Given the description of an element on the screen output the (x, y) to click on. 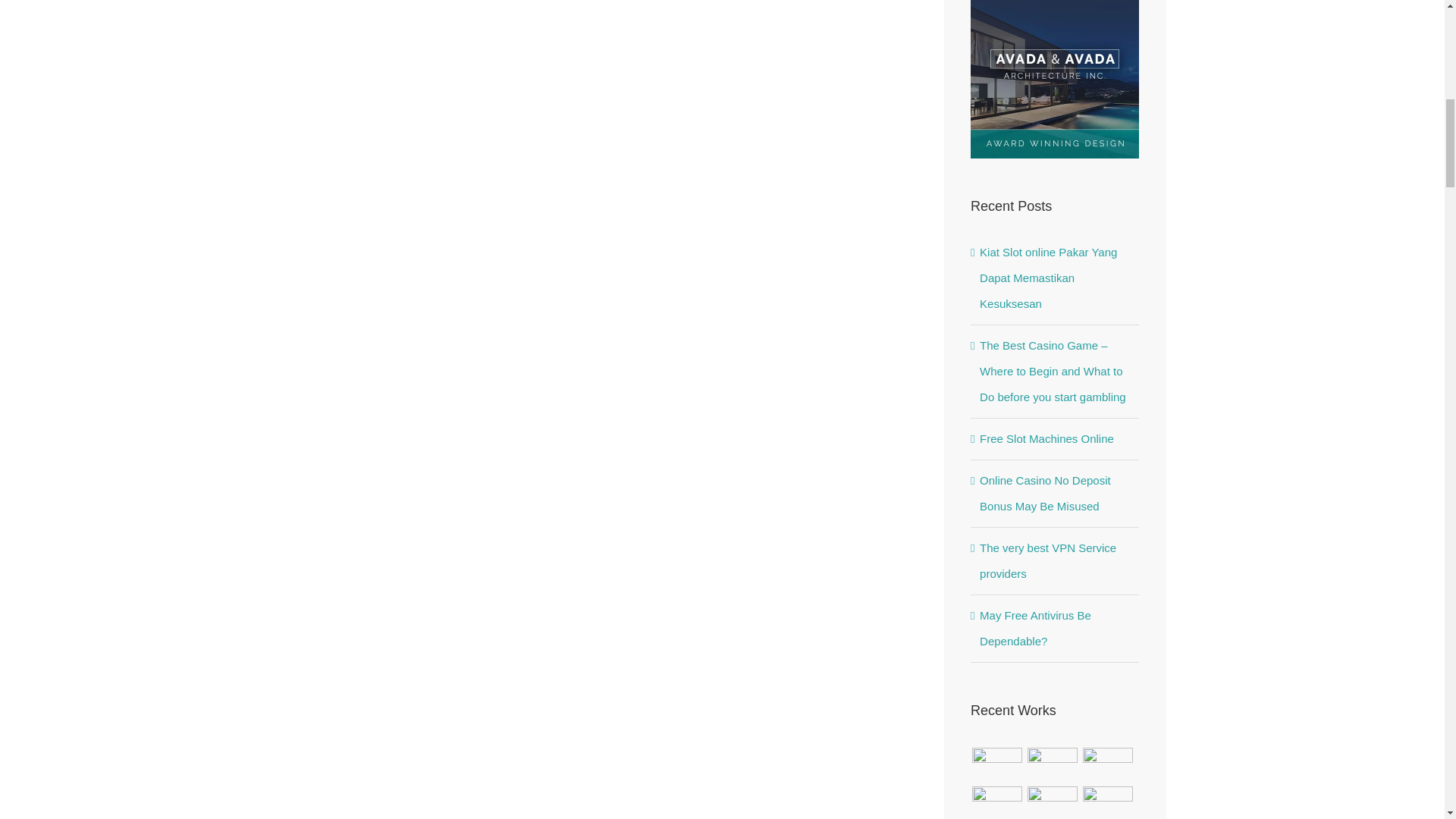
St Lucia Sunsets (1107, 762)
Sunrise Avenue (997, 762)
West Shinjuku (1052, 800)
Manchester Airport (1107, 800)
Danish Modernity (997, 800)
Singapore Skyrise (1052, 762)
